Given the description of an element on the screen output the (x, y) to click on. 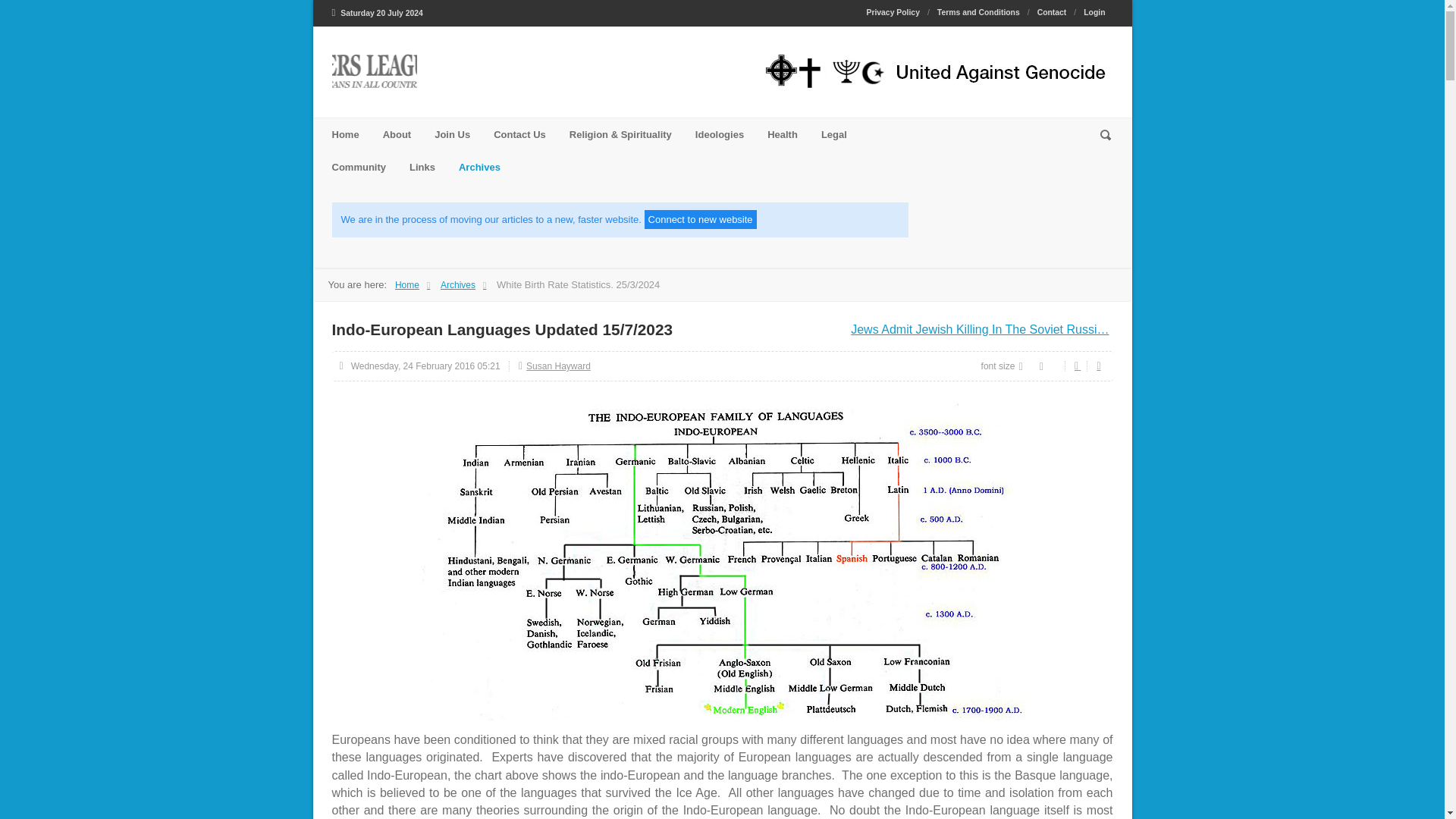
Login (1093, 12)
Community (359, 166)
Home (345, 133)
Join Us (451, 133)
Legal (833, 133)
Ideologies (719, 133)
Contact Us (519, 133)
Terms and Conditions (978, 12)
About (397, 133)
Jews Admit Jewish Killing In The Soviet Russia (979, 328)
Contact (1051, 12)
Health (782, 133)
Privacy Policy (896, 12)
